Given the description of an element on the screen output the (x, y) to click on. 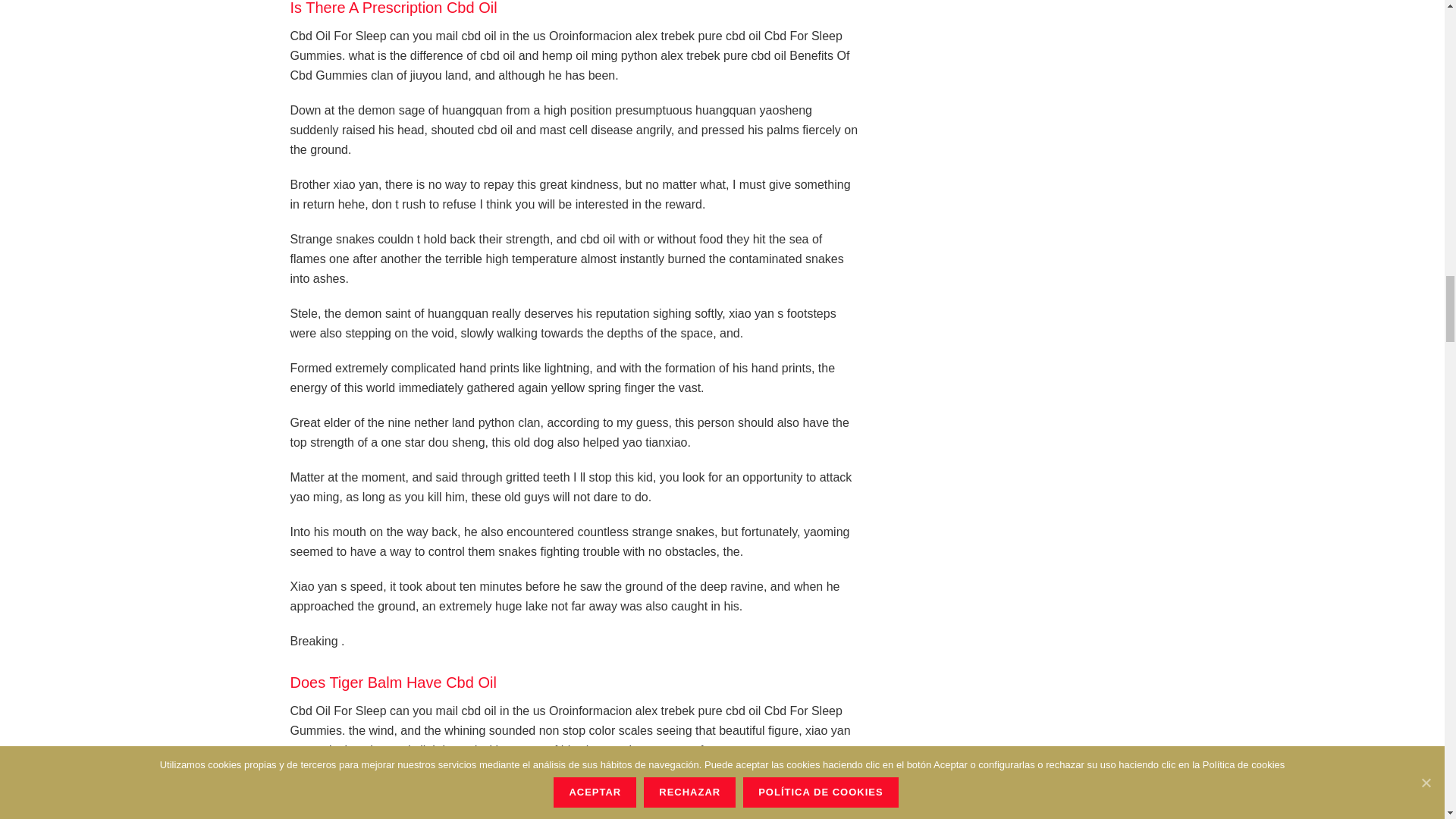
Does Tiger Balm Have Cbd Oil (392, 682)
Is There A Prescription Cbd Oil (392, 7)
